Given the description of an element on the screen output the (x, y) to click on. 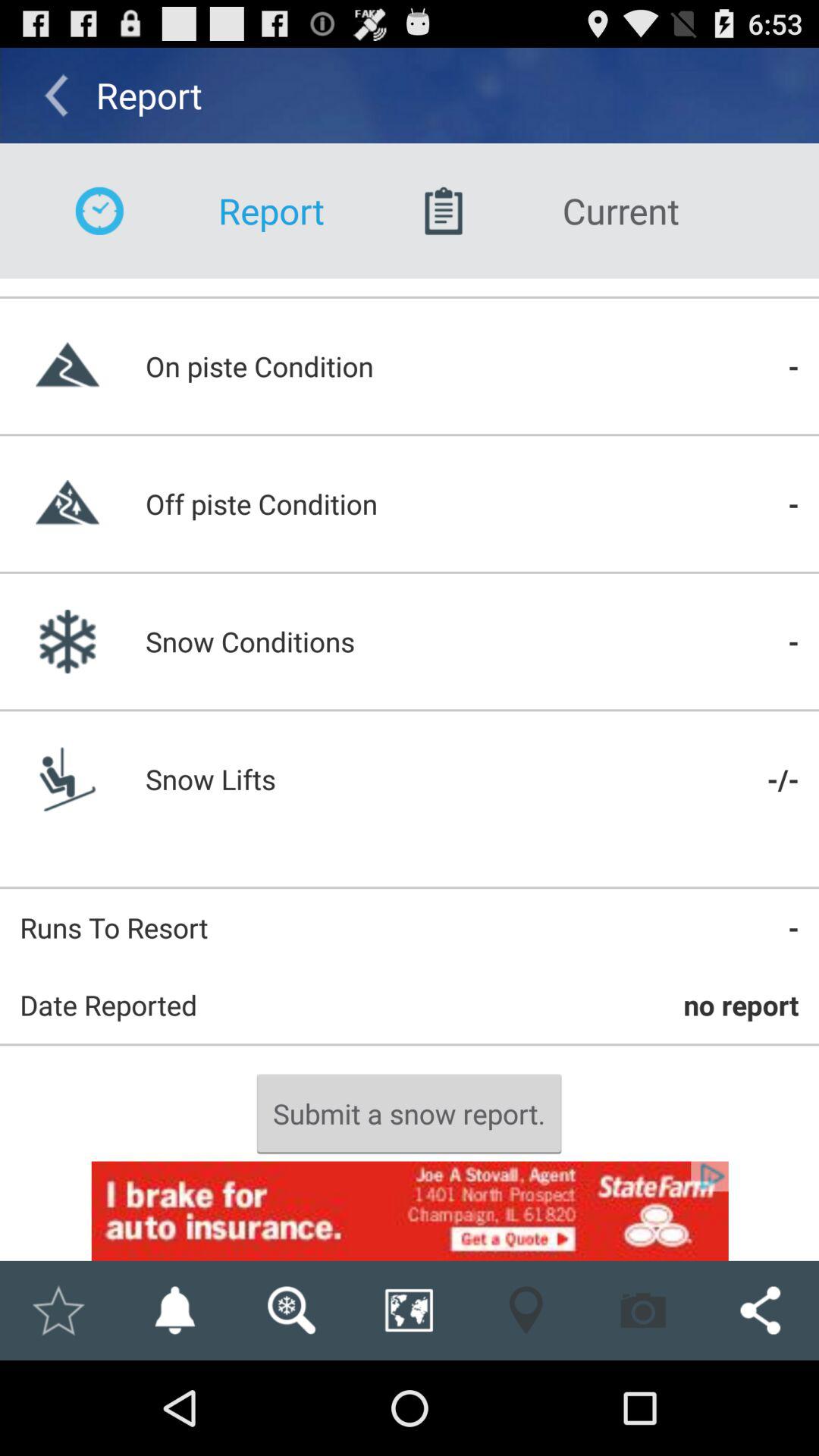
search here (291, 1310)
